Given the description of an element on the screen output the (x, y) to click on. 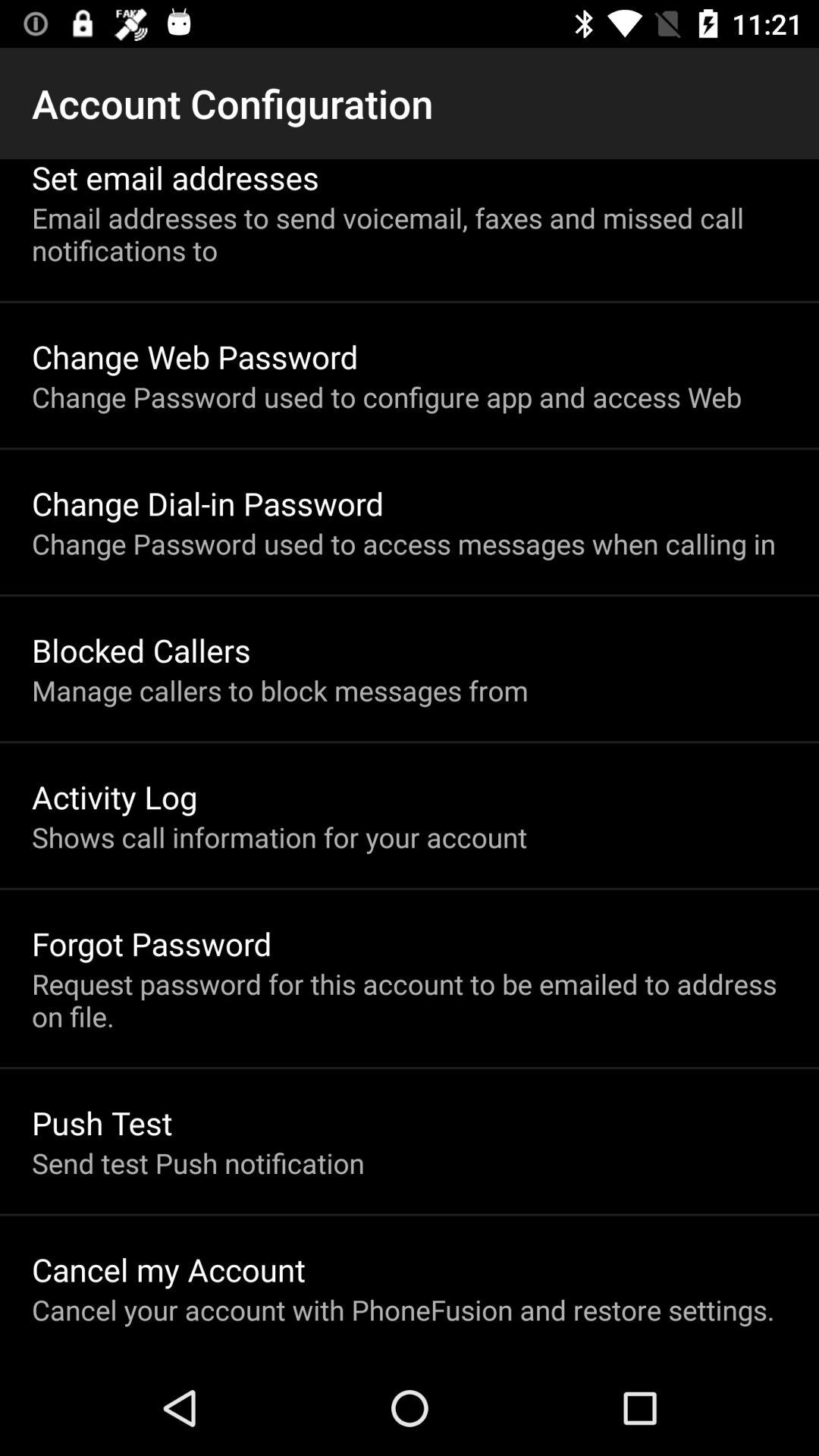
turn off item below activity log icon (279, 836)
